Given the description of an element on the screen output the (x, y) to click on. 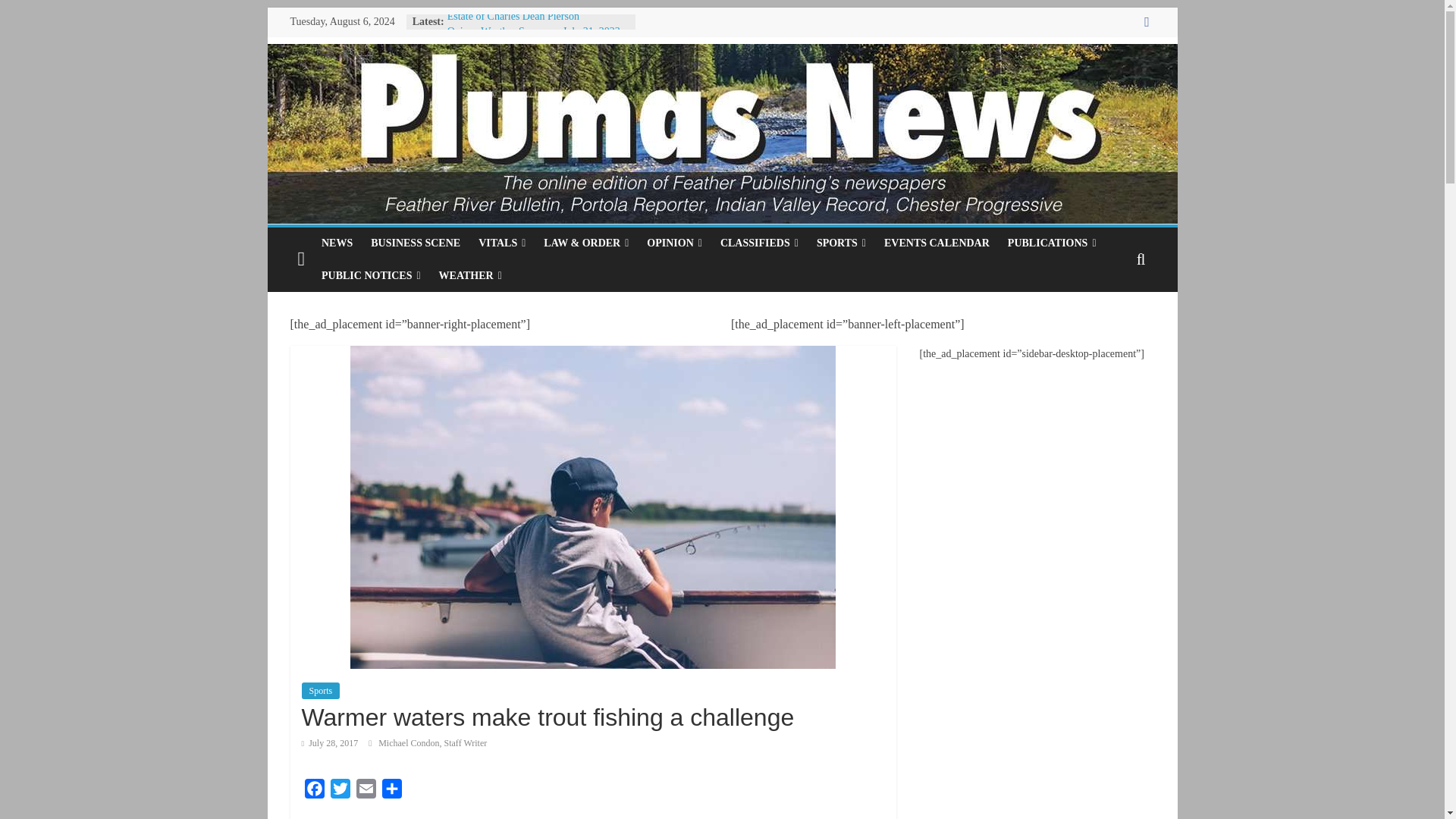
CLASSIFIEDS (759, 243)
Quincy Weather Summary July 31, 2023 (533, 30)
Facebook (314, 791)
PUBLICATIONS (1051, 243)
Estate of Charles Dean Pierson (512, 16)
OPINION (674, 243)
SPORTS (841, 243)
EVENTS CALENDAR (936, 243)
7:00 am (329, 742)
NEWS (337, 243)
